Given the description of an element on the screen output the (x, y) to click on. 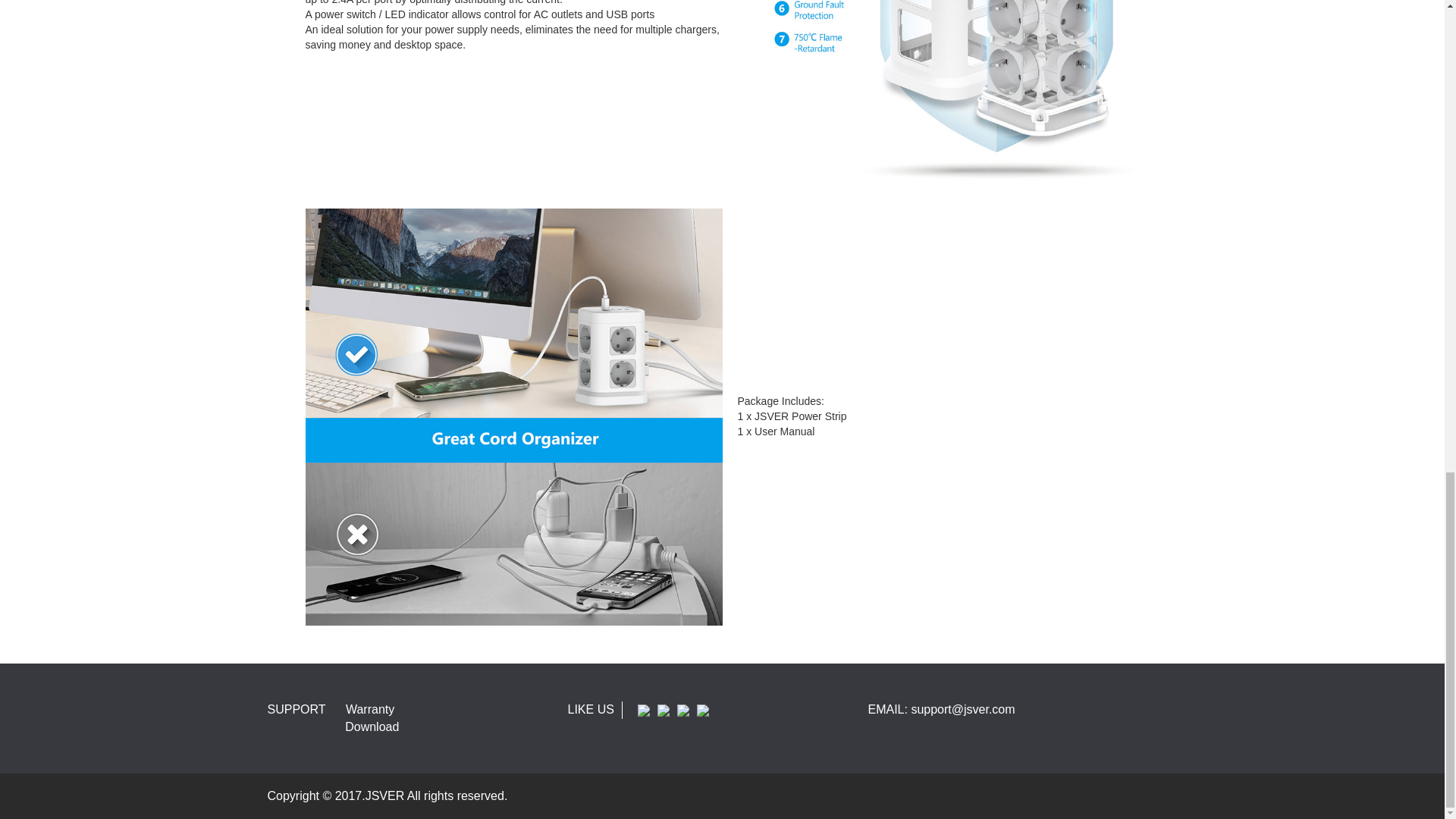
Download (371, 726)
SUPPORT (295, 708)
Warranty (370, 708)
